Given the description of an element on the screen output the (x, y) to click on. 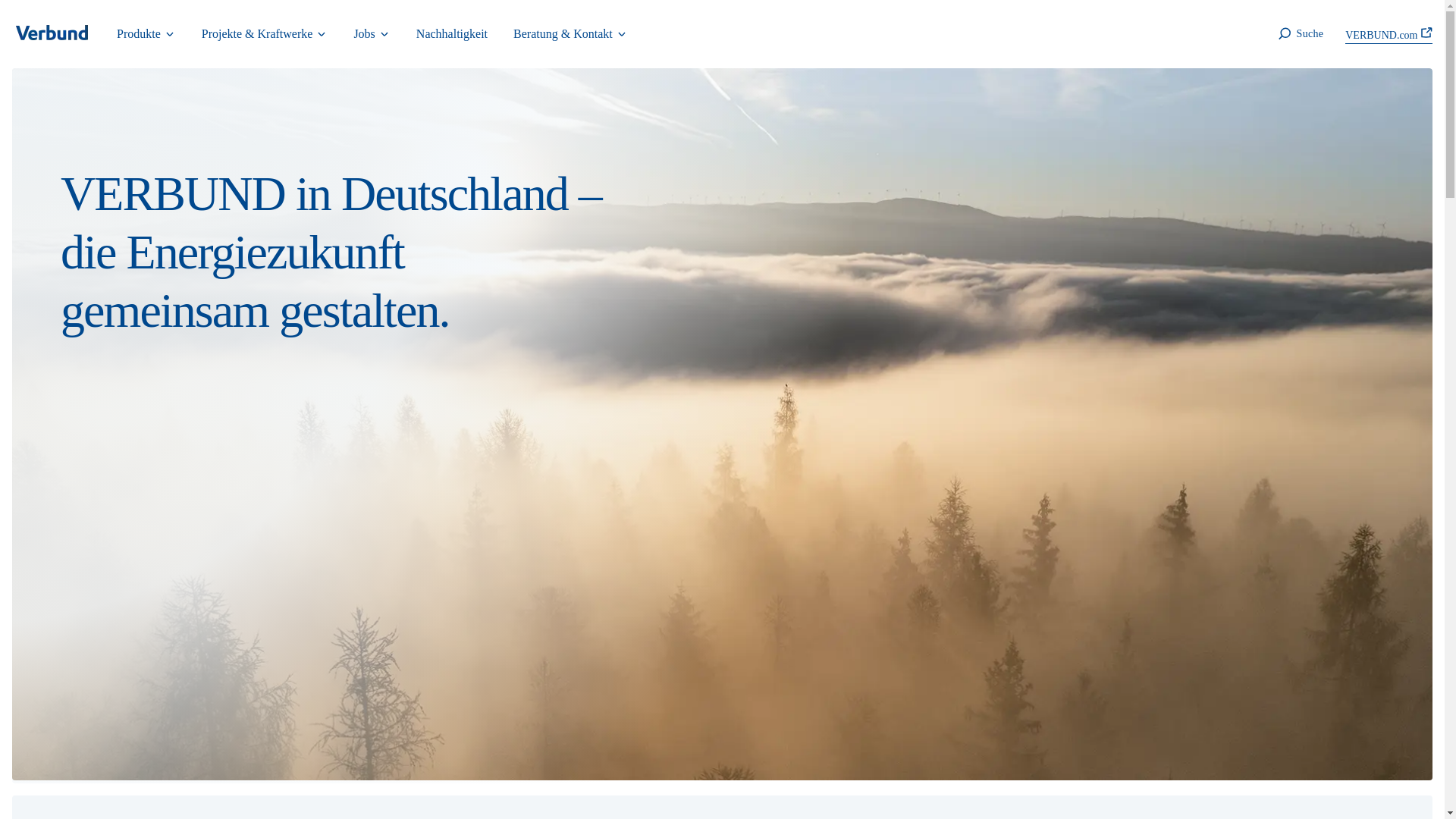
Nachhaltigkeit (451, 34)
Jobs (371, 34)
VERBUND.com (1388, 33)
Produkte (146, 34)
Suche (1299, 34)
